Given the description of an element on the screen output the (x, y) to click on. 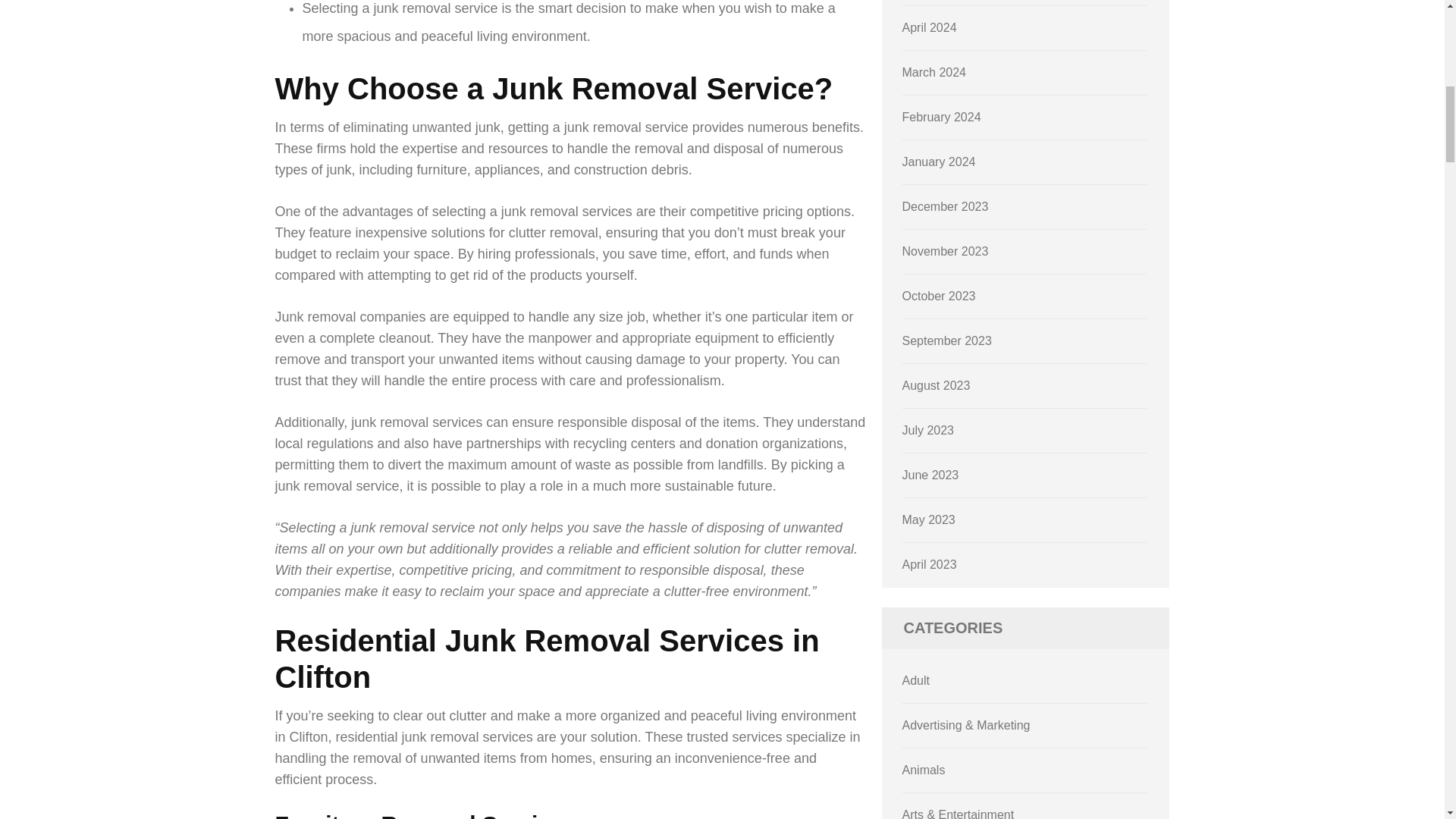
July 2023 (928, 430)
August 2023 (936, 385)
September 2023 (946, 340)
April 2024 (929, 27)
February 2024 (941, 116)
April 2023 (929, 563)
May 2023 (928, 519)
October 2023 (938, 295)
Adult (916, 680)
November 2023 (945, 250)
March 2024 (934, 72)
January 2024 (938, 161)
December 2023 (945, 205)
June 2023 (930, 474)
Animals (923, 769)
